Given the description of an element on the screen output the (x, y) to click on. 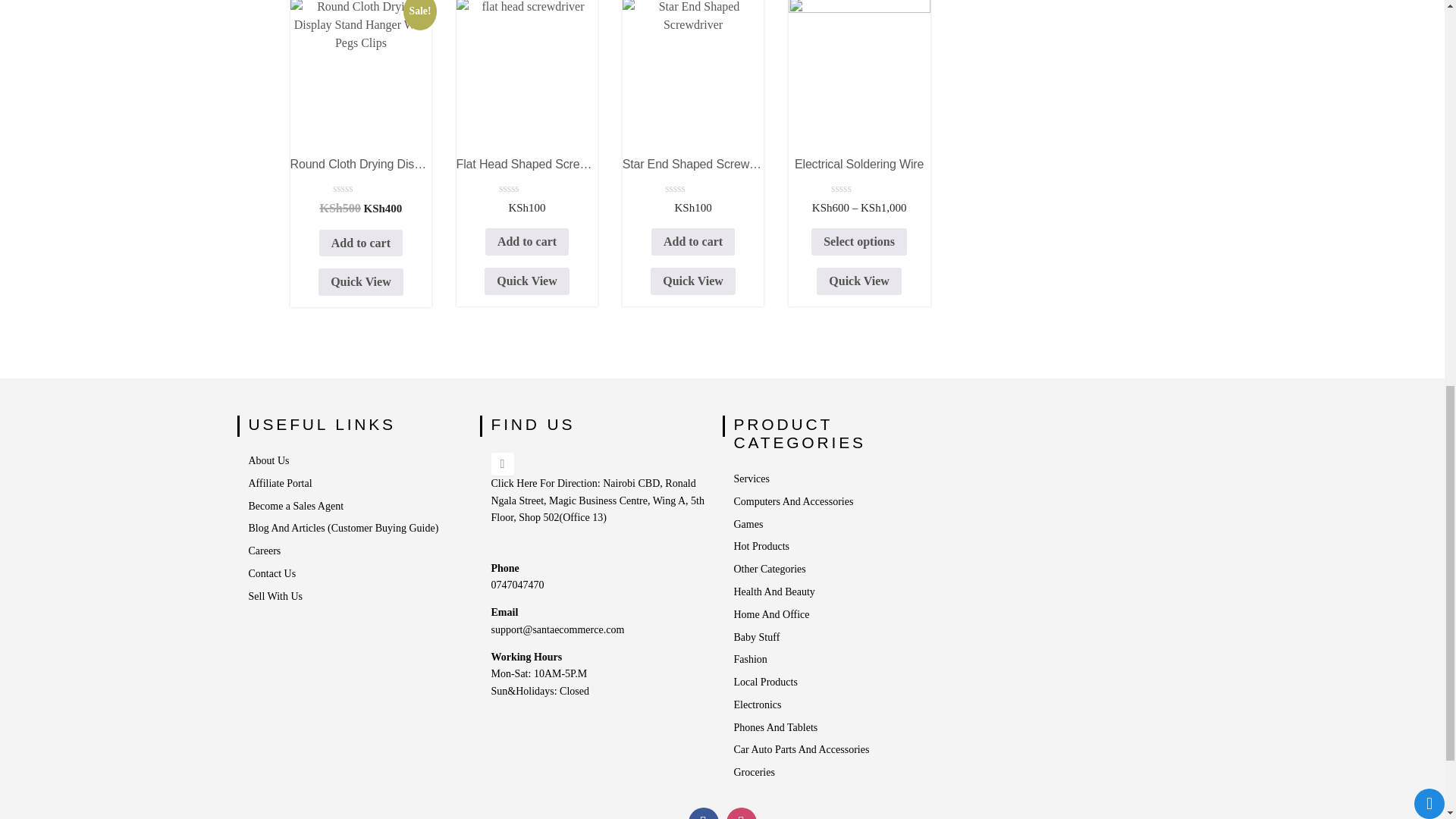
Quick View (526, 280)
Add to cart (360, 243)
Quick View (360, 281)
Instagram (741, 813)
Facebook (703, 813)
Quick View (692, 280)
Add to cart (692, 241)
Add to cart (526, 241)
